Given the description of an element on the screen output the (x, y) to click on. 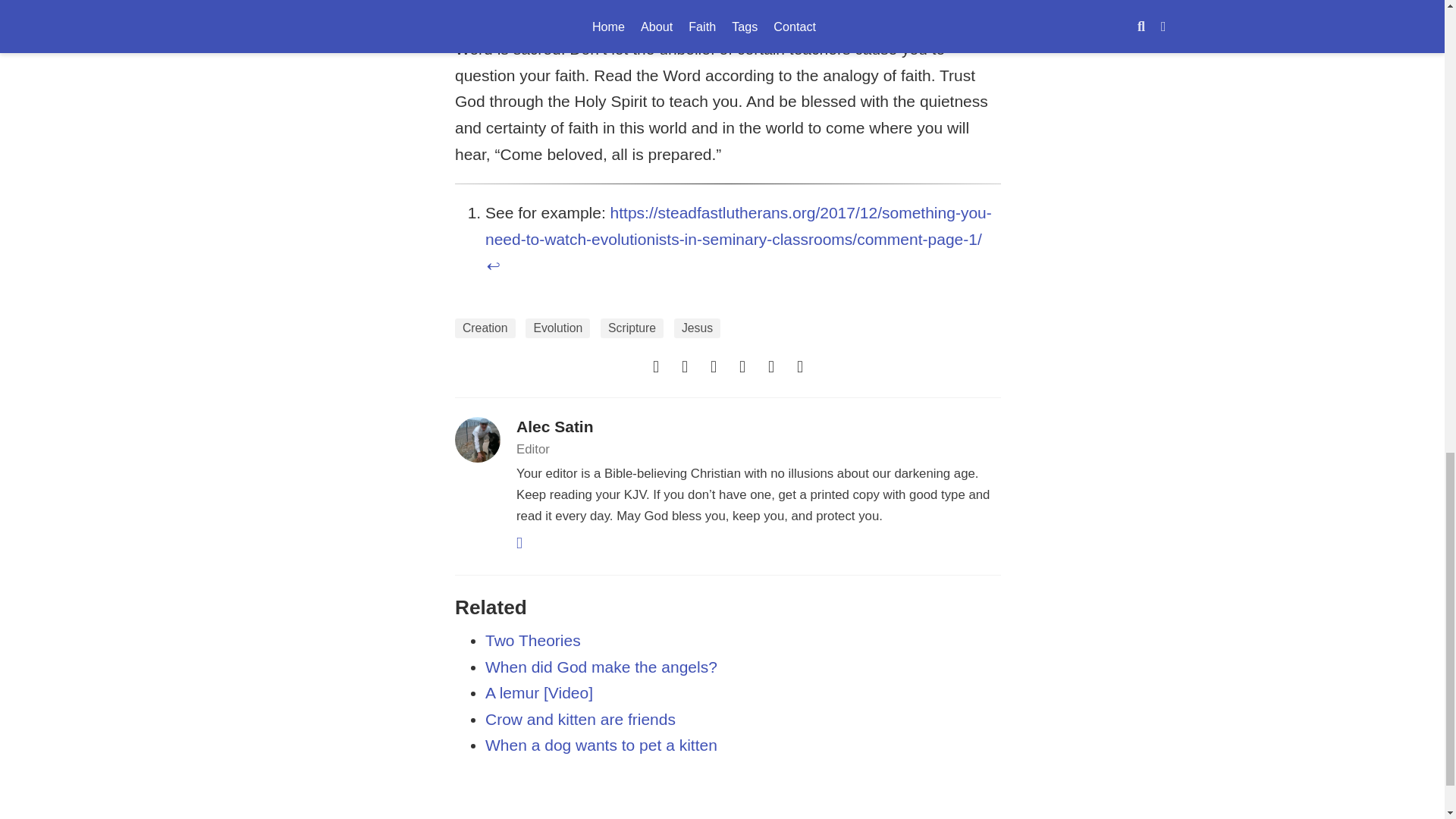
When a dog wants to pet a kitten (600, 744)
Crow and kitten are friends (579, 719)
Scripture (631, 328)
Alec Satin (555, 425)
Jesus (697, 328)
Creation (484, 328)
When did God make the angels? (600, 666)
Two Theories (532, 640)
Evolution (557, 328)
